Given the description of an element on the screen output the (x, y) to click on. 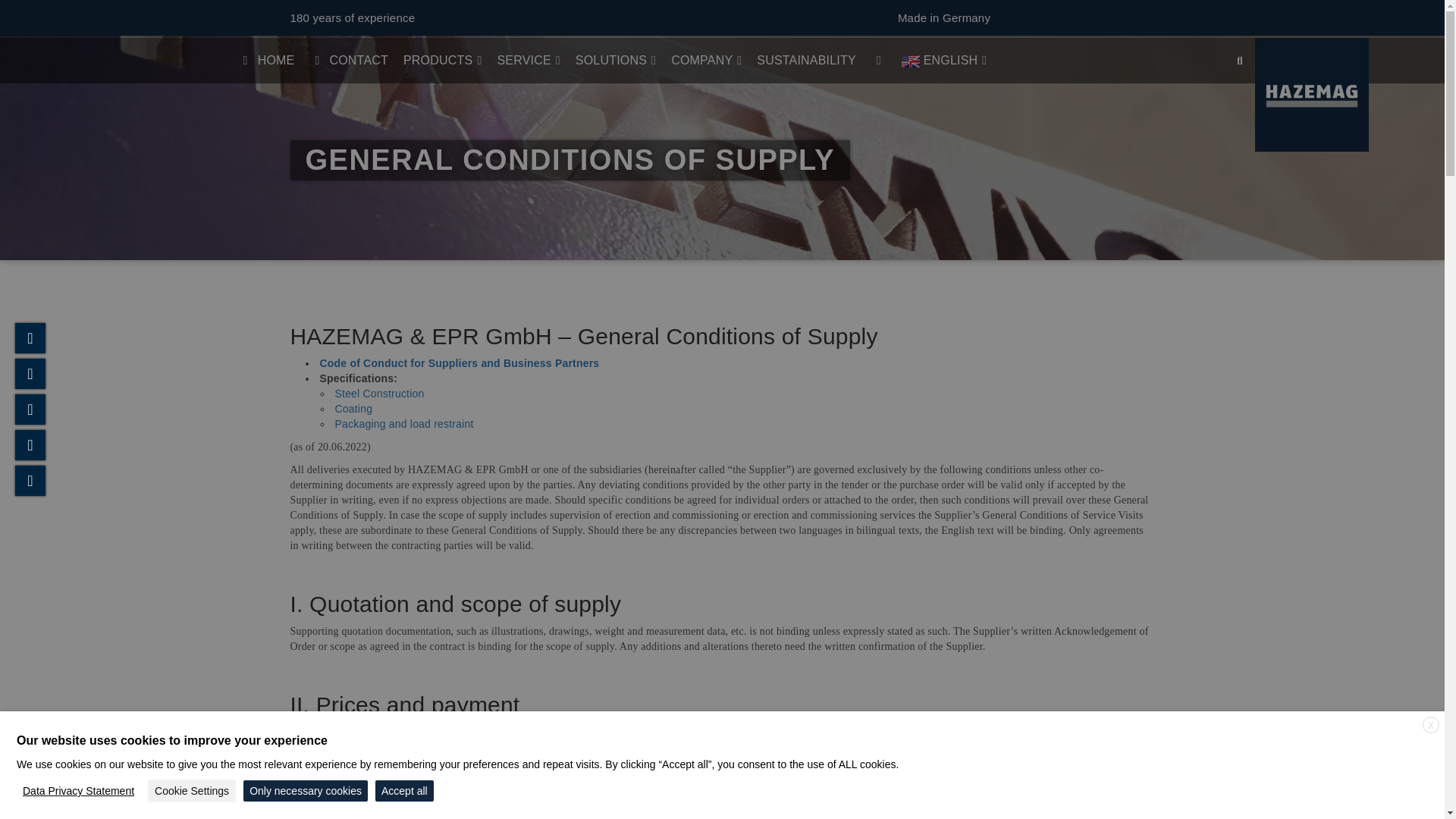
CONTACT (348, 60)
Instagram (29, 444)
HOME (266, 60)
Close and Reject (1430, 724)
Facebook (29, 373)
Contact Us (29, 337)
Youtube (29, 481)
LinkedIn (29, 409)
PRODUCTS (442, 60)
